Given the description of an element on the screen output the (x, y) to click on. 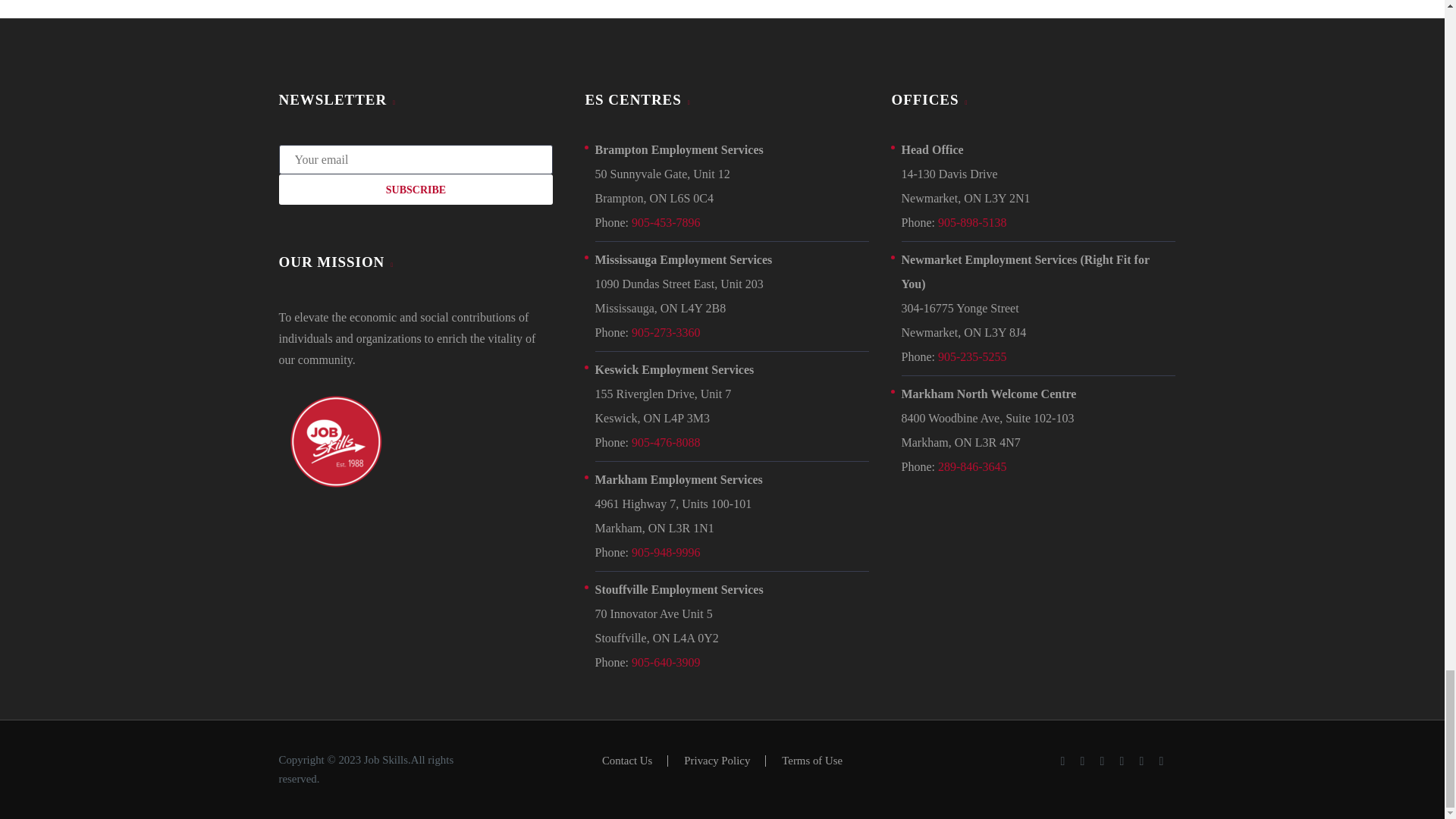
Subscribe (416, 189)
